Given the description of an element on the screen output the (x, y) to click on. 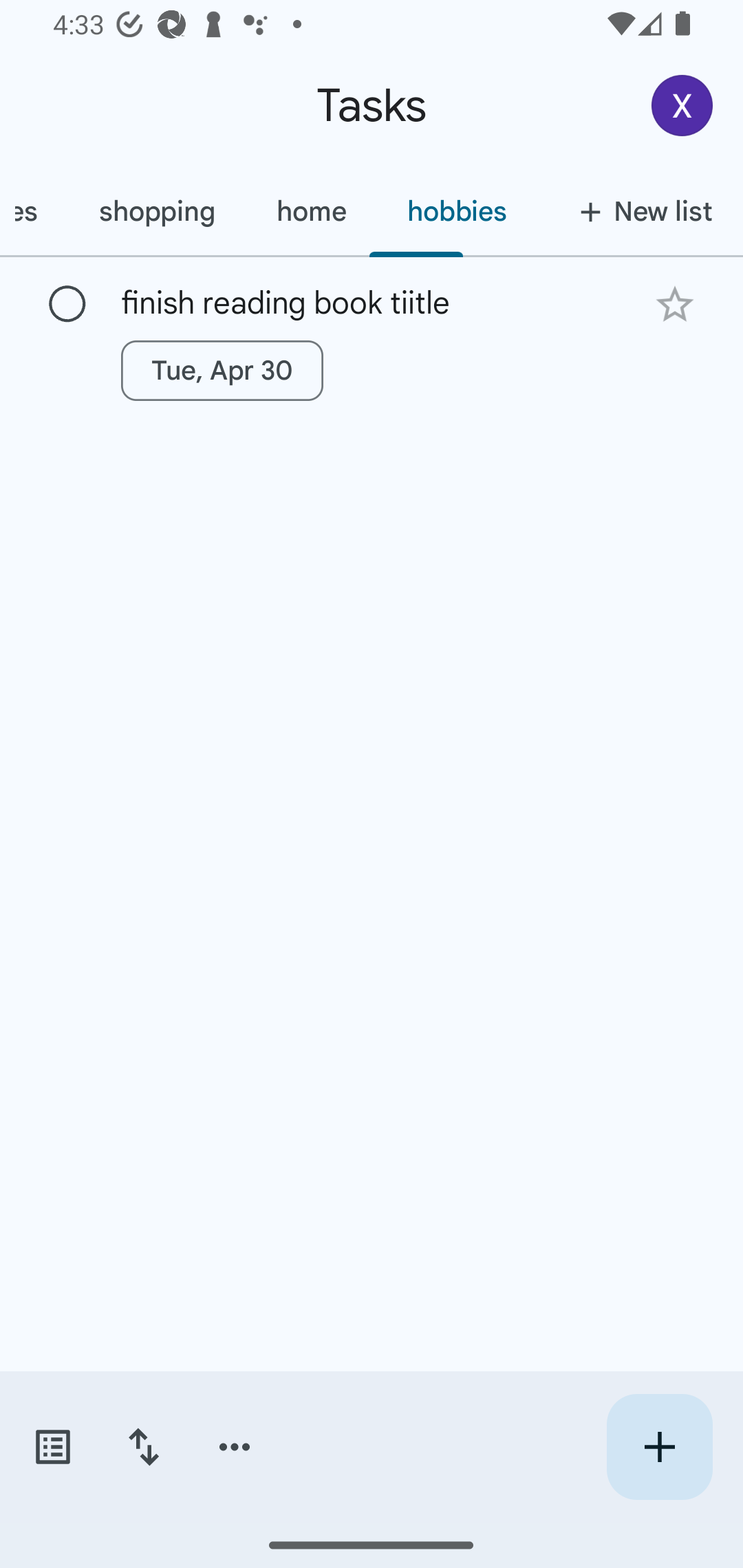
shopping (156, 211)
home (310, 211)
New list (640, 211)
Add star (674, 303)
Mark as complete (67, 304)
Tue, Apr 30 (222, 369)
Switch task lists (52, 1447)
Create new task (659, 1446)
Change sort order (143, 1446)
More options (234, 1446)
